Given the description of an element on the screen output the (x, y) to click on. 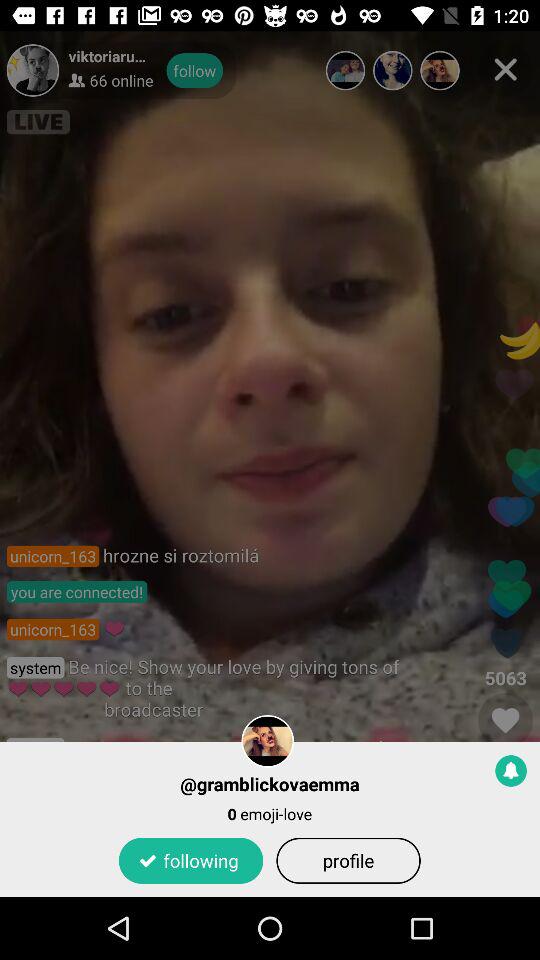
notification toggle (511, 770)
